Given the description of an element on the screen output the (x, y) to click on. 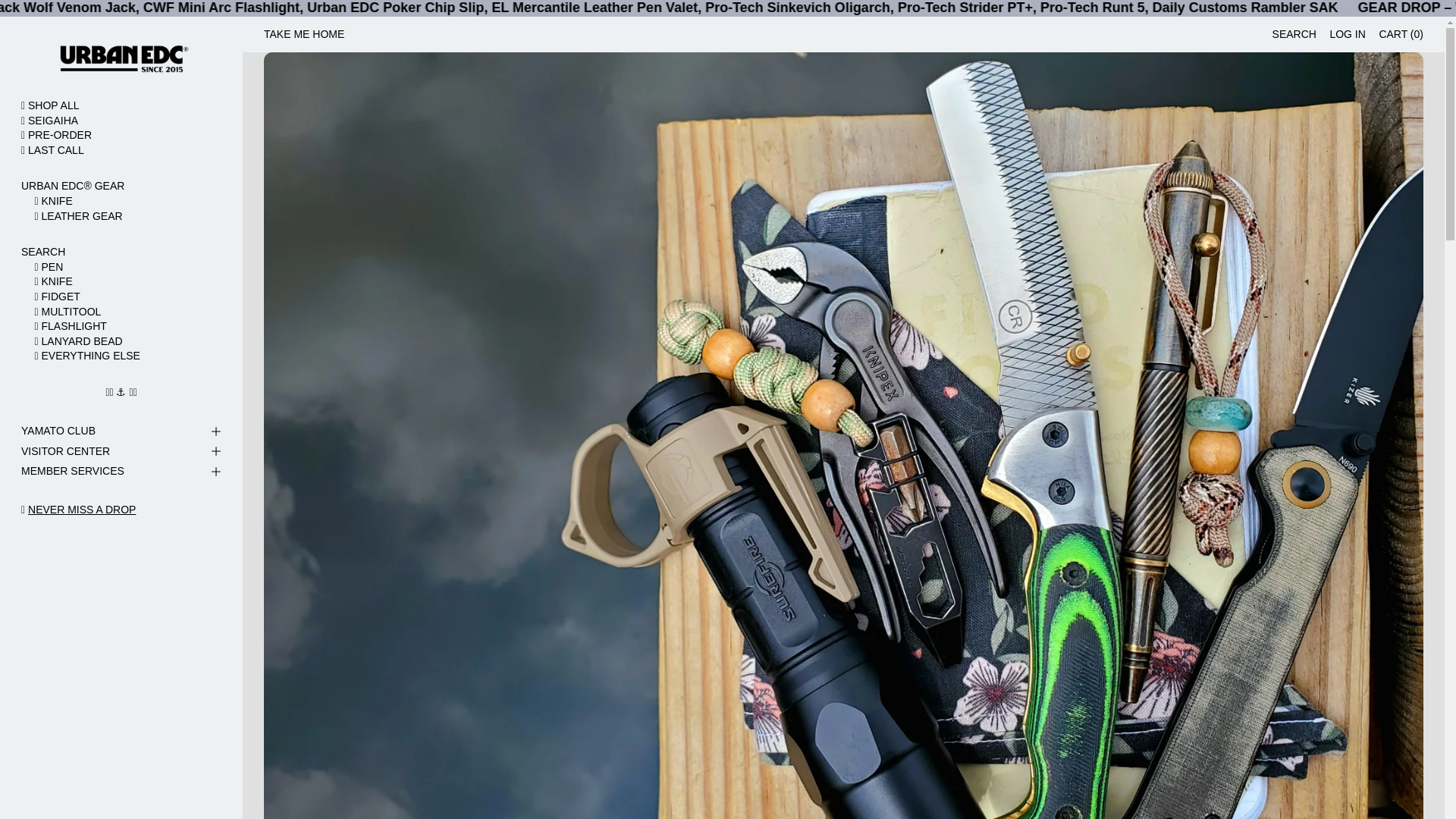
LOG IN (1347, 34)
NEVER MISS A DROP (81, 509)
YAMATO CLUB (121, 431)
MEMBER SERVICES (121, 471)
VISITOR CENTER (121, 451)
TAKE ME HOME (303, 34)
SEARCH (121, 252)
SEARCH (1294, 34)
